Given the description of an element on the screen output the (x, y) to click on. 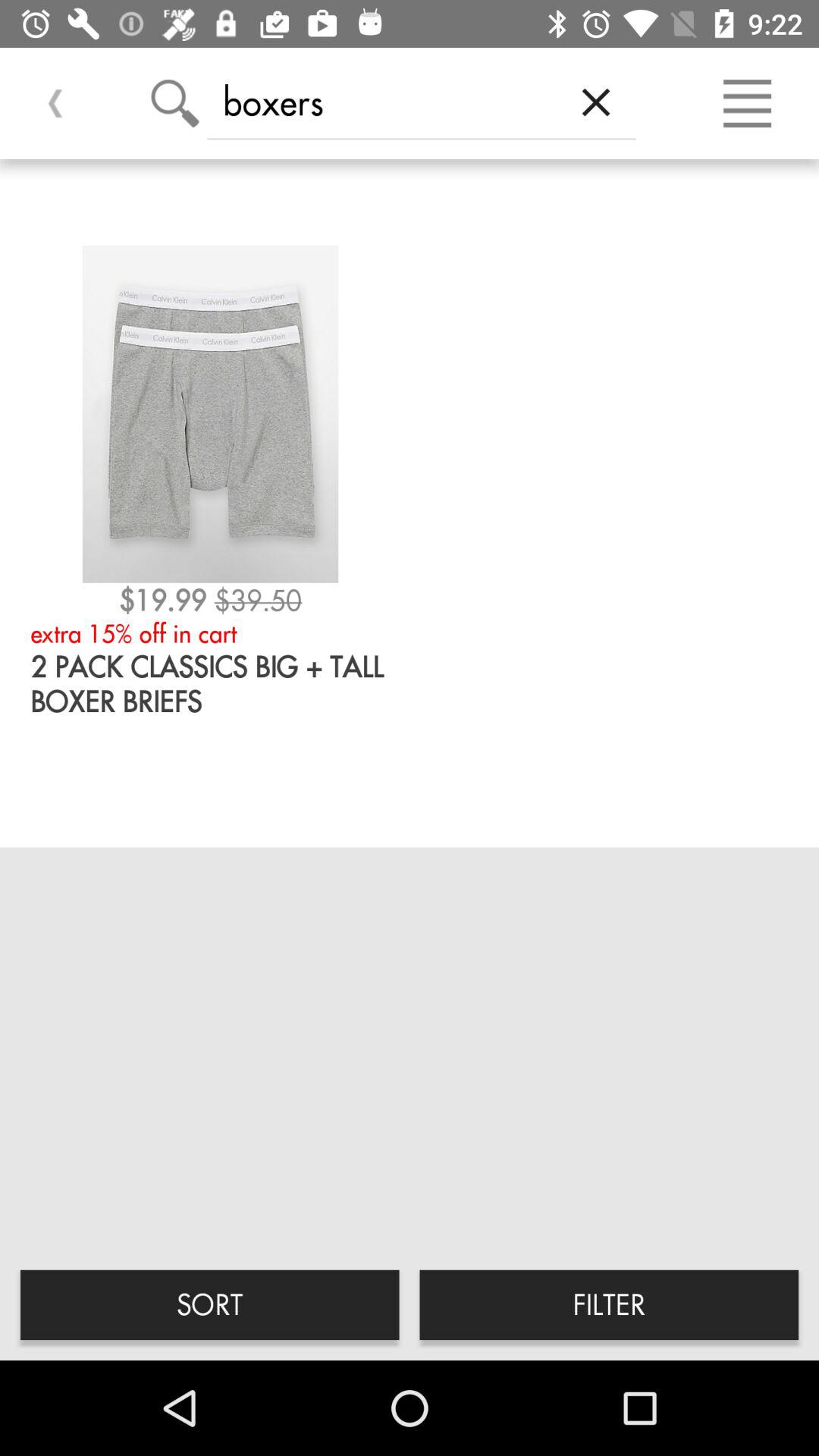
select the item next to boxers (595, 102)
